Given the description of an element on the screen output the (x, y) to click on. 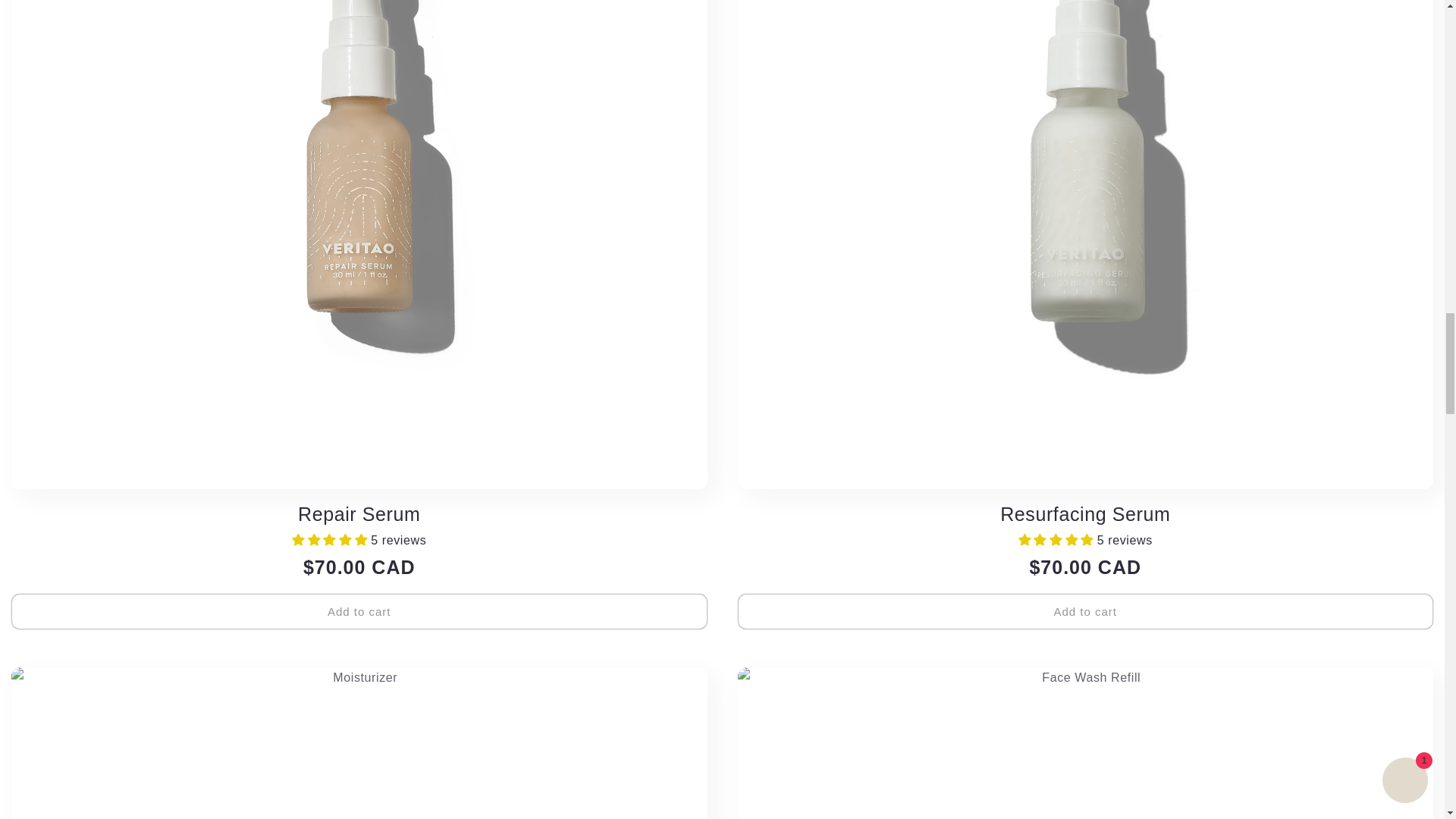
Repair Serum (359, 514)
Add to cart (1084, 611)
Resurfacing Serum (1084, 514)
Add to cart (359, 611)
